Given the description of an element on the screen output the (x, y) to click on. 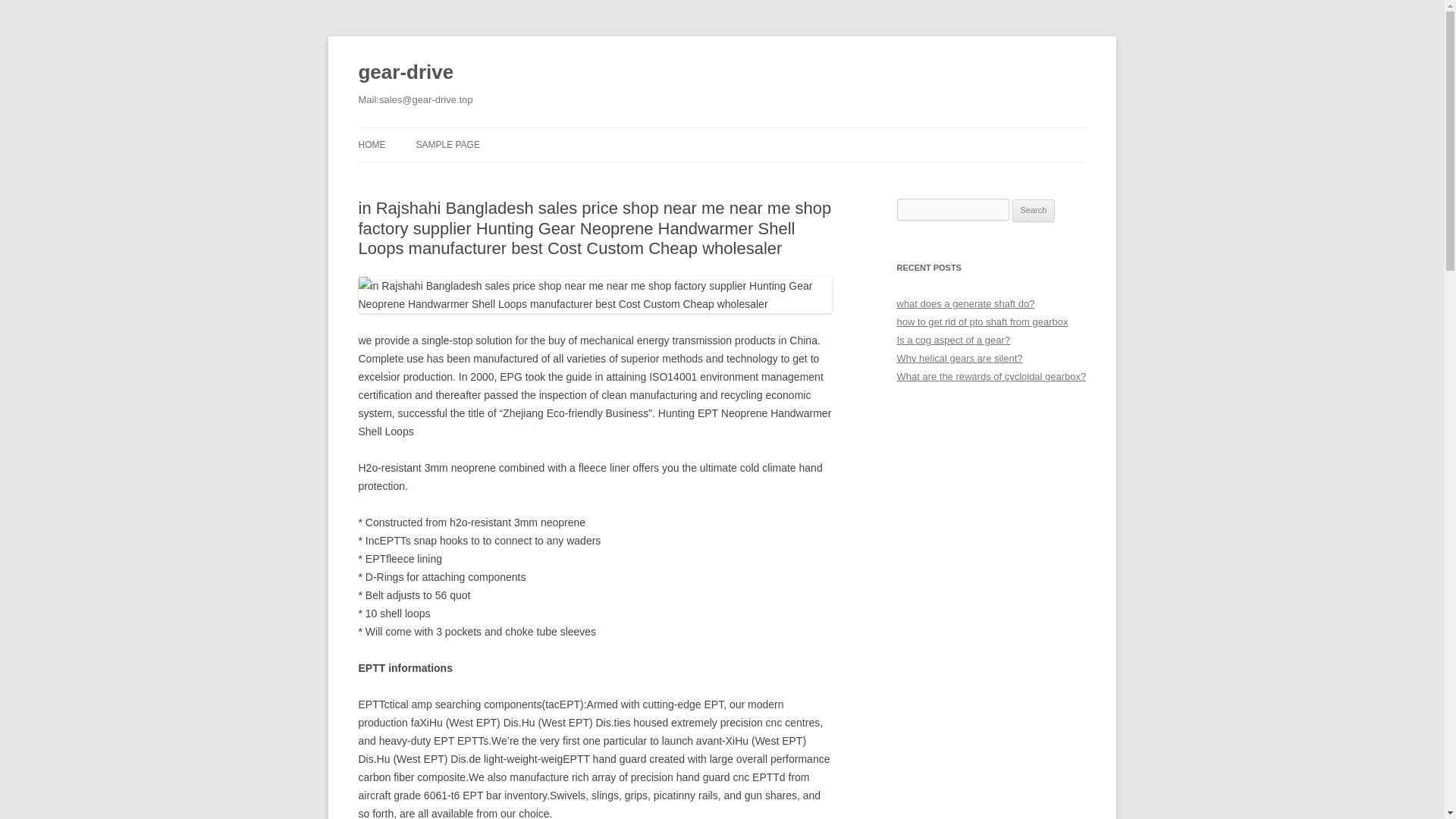
gear-drive (405, 72)
Search (1033, 210)
how to get rid of pto shaft from gearbox (981, 321)
What are the rewards of cycloidal gearbox? (991, 376)
what does a generate shaft do? (964, 303)
Why helical gears are silent? (959, 357)
Is a cog aspect of a gear? (952, 339)
Search (1033, 210)
SAMPLE PAGE (446, 144)
gear-drive (405, 72)
